Given the description of an element on the screen output the (x, y) to click on. 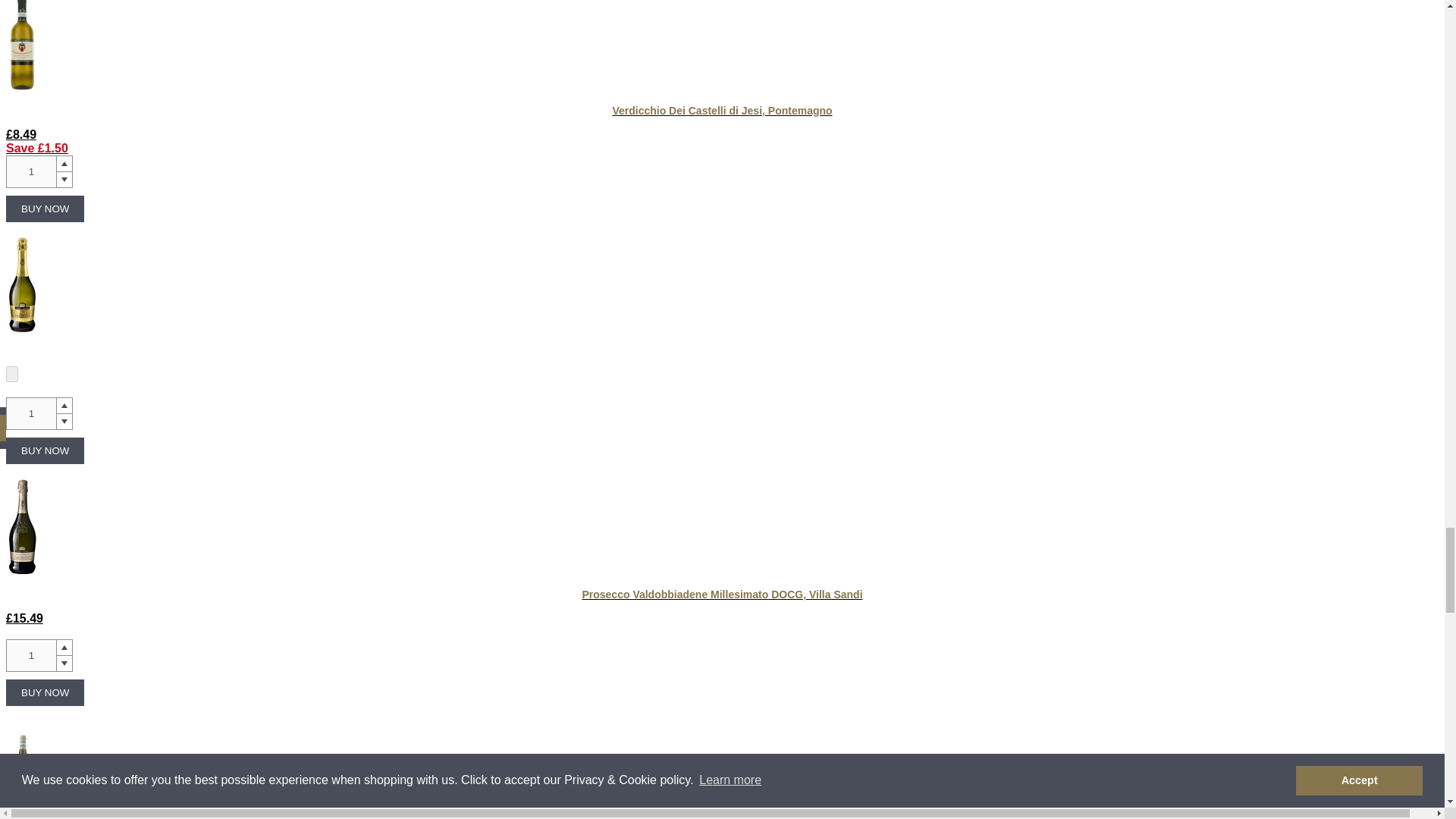
1 (30, 171)
1 (30, 655)
1 (30, 413)
